Given the description of an element on the screen output the (x, y) to click on. 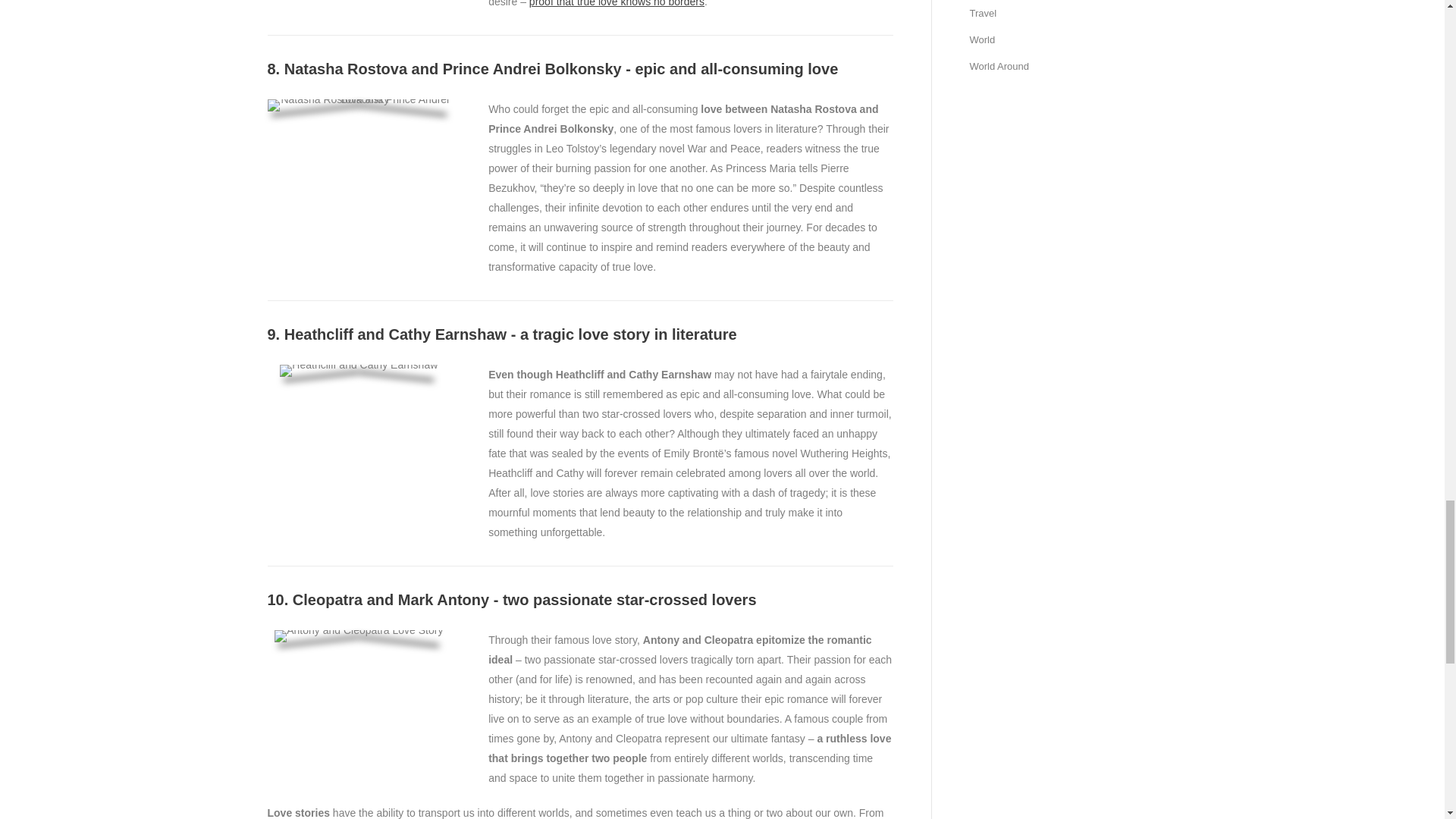
Natasha Rostova and Prince Andrei Bolkonsky (357, 105)
Antony and Cleopatra Love Story (358, 635)
Heathcliff and Cathy Earnshaw (358, 370)
